Given the description of an element on the screen output the (x, y) to click on. 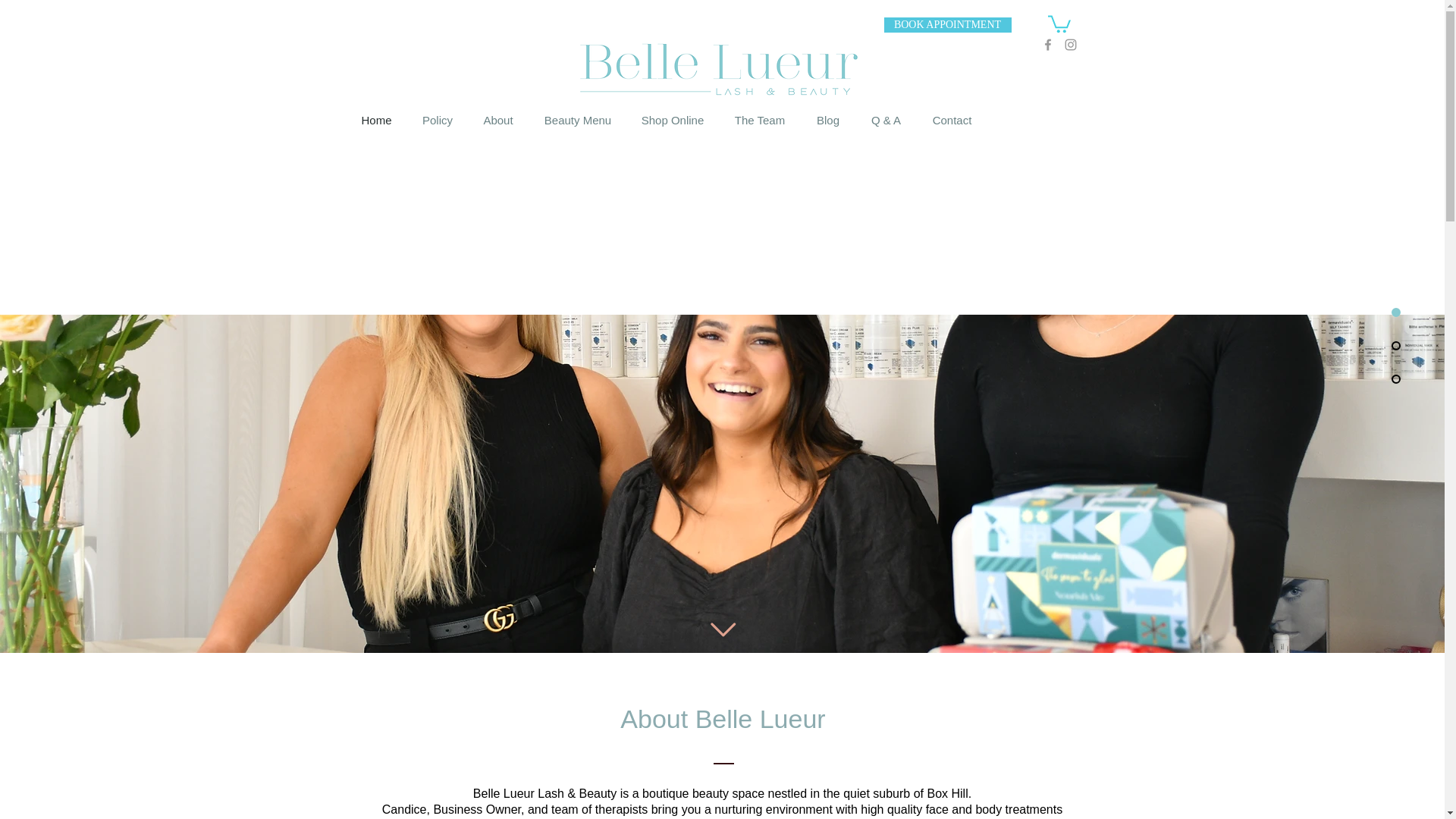
Policy (437, 119)
Contact (952, 119)
About (497, 119)
Beauty Menu (578, 119)
Shop Online (671, 119)
Blog (827, 119)
BOOK APPOINTMENT (947, 24)
The Team (760, 119)
Home (376, 119)
